Given the description of an element on the screen output the (x, y) to click on. 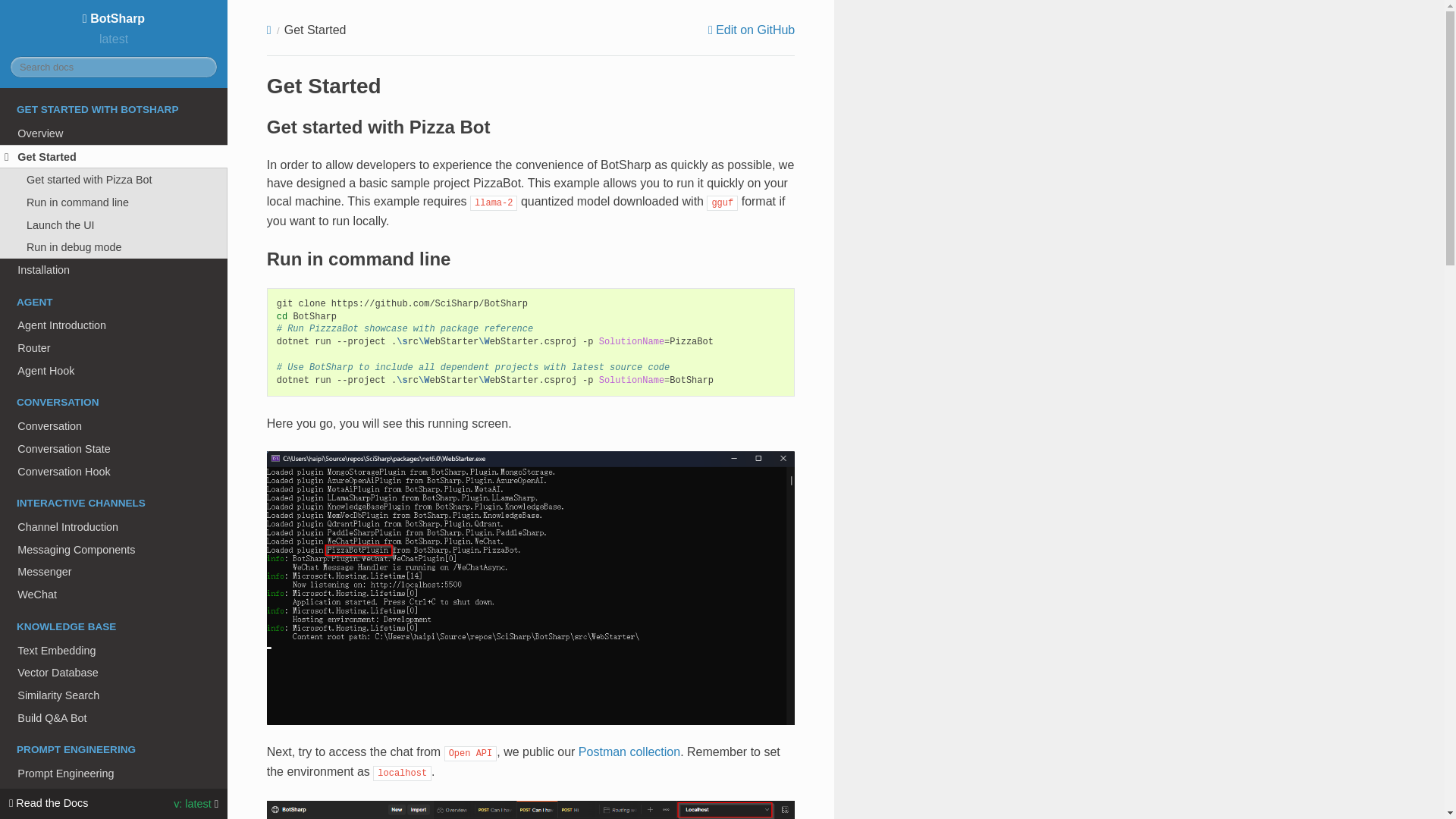
Prompt Engineering (113, 773)
Run in command line (113, 201)
Vector Database (113, 671)
BotSharp (113, 18)
WeChat (113, 594)
Agent Hook (113, 370)
Installation (113, 269)
Agent Introduction (113, 325)
Overview (113, 133)
Edit on GitHub (750, 30)
